Given the description of an element on the screen output the (x, y) to click on. 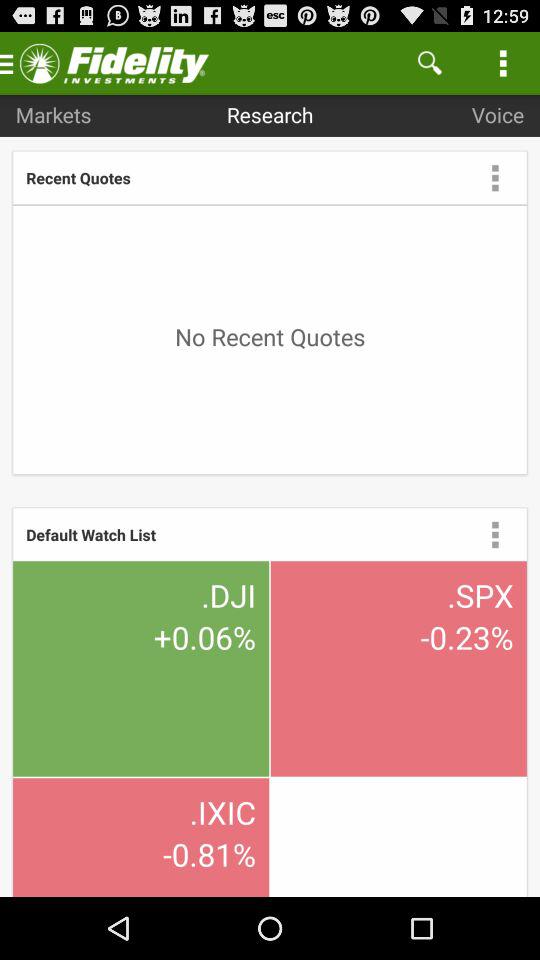
select app above recent quotes icon (53, 114)
